Given the description of an element on the screen output the (x, y) to click on. 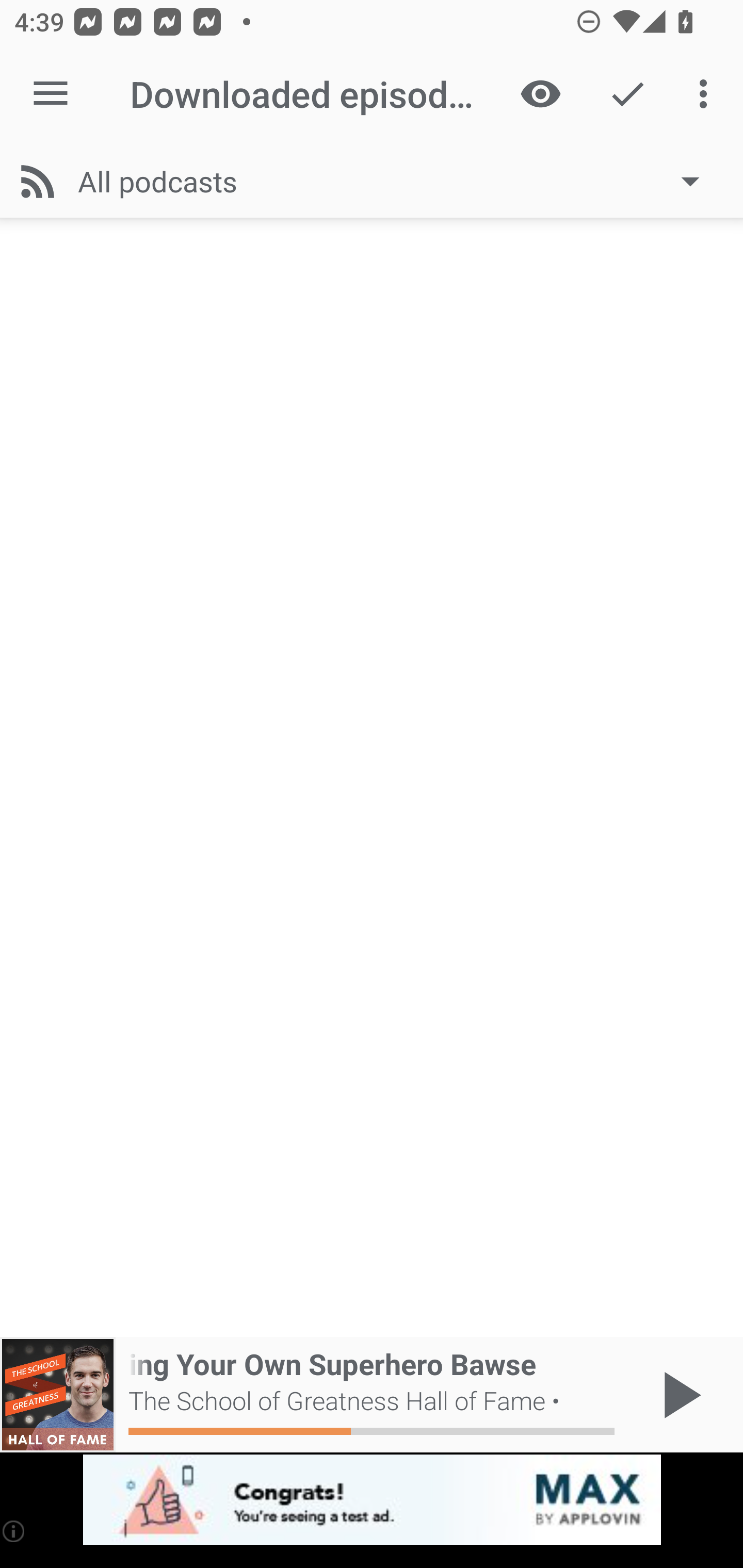
Open navigation sidebar (50, 93)
Show / Hide played content (540, 93)
Action Mode (626, 93)
More options (706, 93)
All podcasts (398, 180)
Play / Pause (677, 1394)
app-monetization (371, 1500)
(i) (14, 1531)
